Given the description of an element on the screen output the (x, y) to click on. 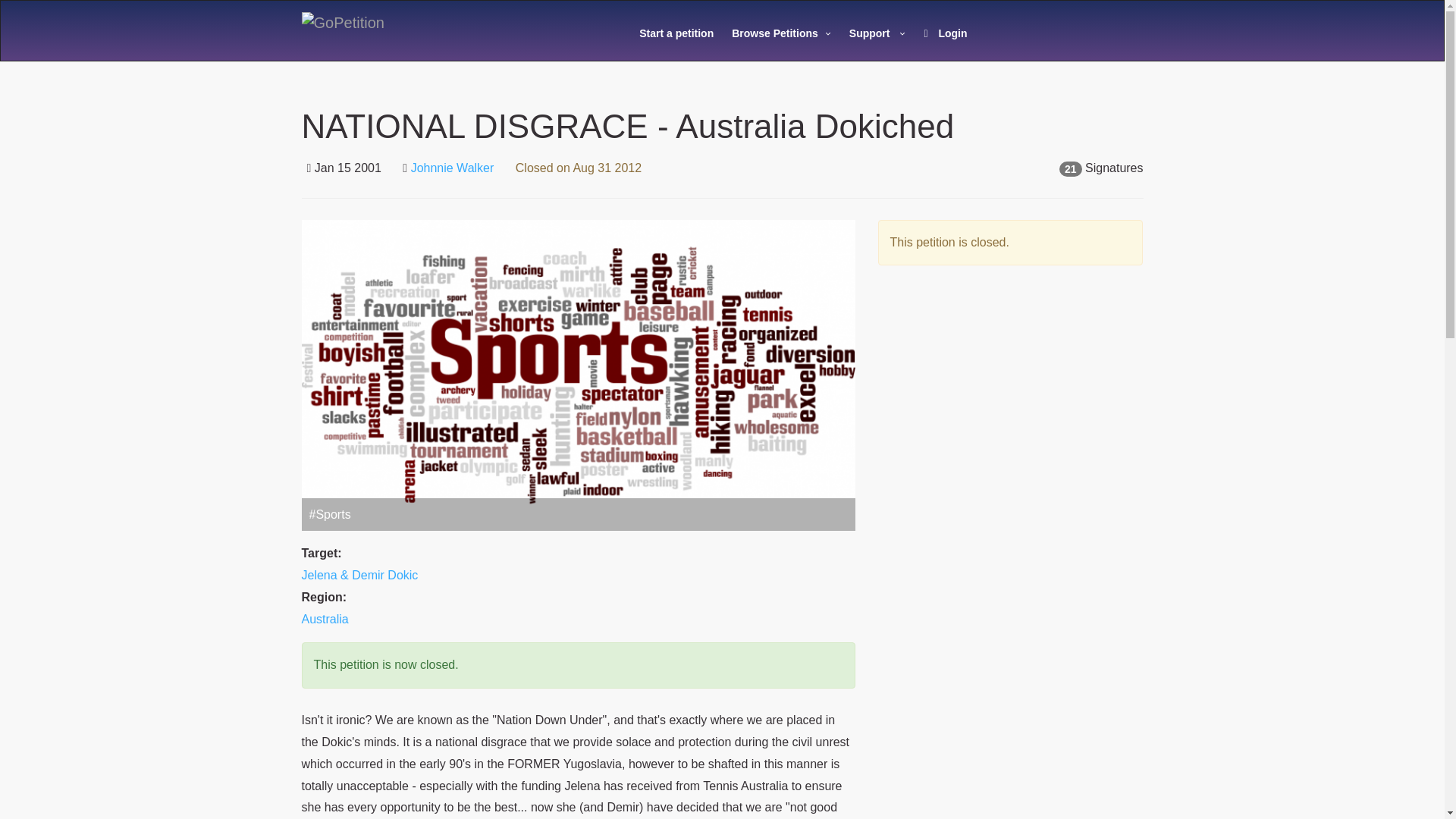
Login (944, 33)
Browse Petitions (781, 33)
Australia (325, 618)
Johnnie Walker (452, 167)
Advertisement (1009, 422)
Start a petition (676, 33)
Support (877, 33)
